Given the description of an element on the screen output the (x, y) to click on. 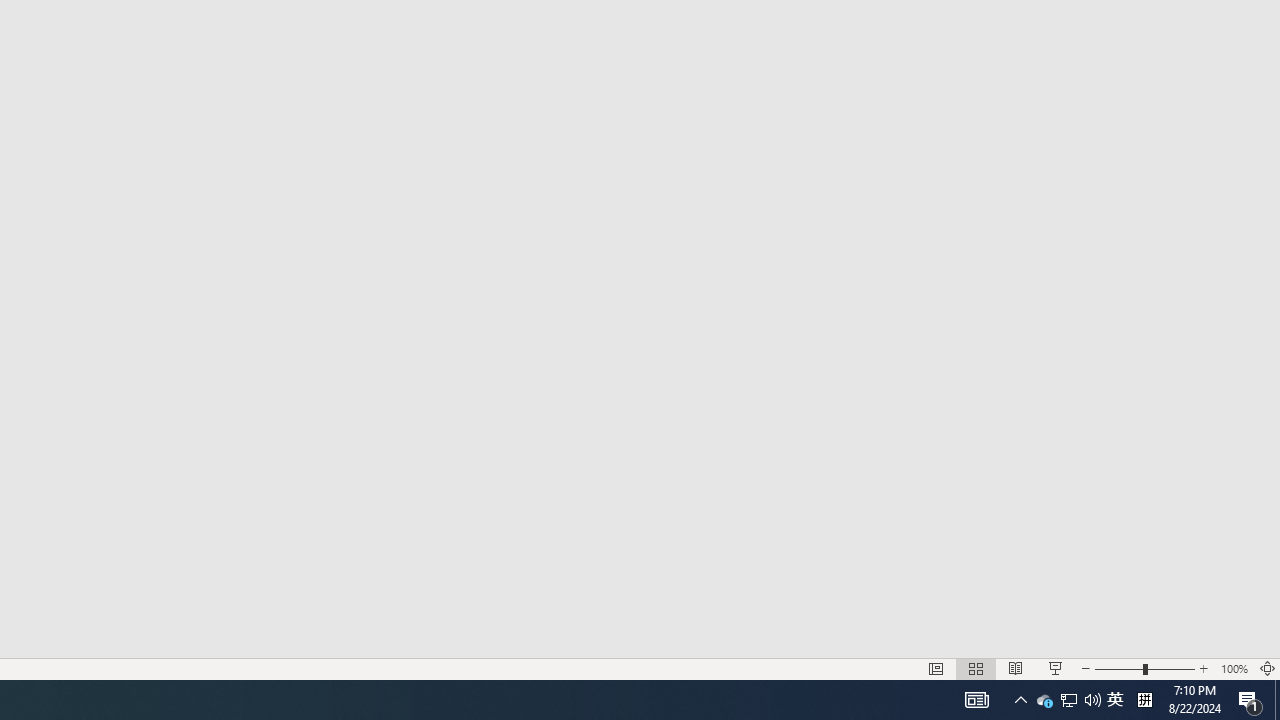
Slide Sorter (975, 668)
Zoom In (1204, 668)
Normal (936, 668)
Reading View (1015, 668)
Zoom (1144, 668)
Slide Show (1055, 668)
Zoom 100% (1234, 668)
Zoom to Fit  (1267, 668)
Zoom Out (1118, 668)
